Given the description of an element on the screen output the (x, y) to click on. 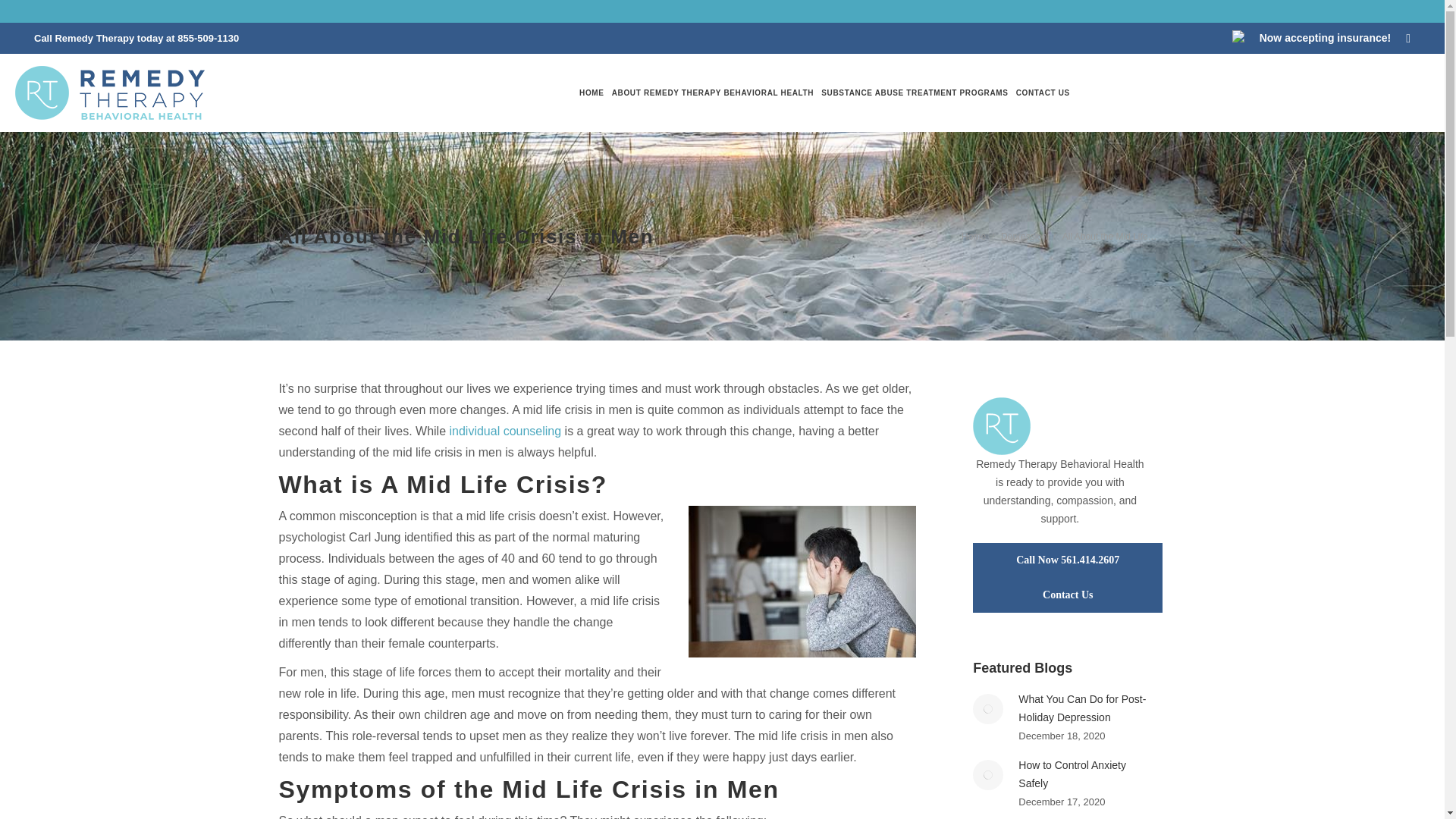
SUBSTANCE ABUSE TREATMENT PROGRAMS (914, 93)
HOME (591, 93)
Contact Us (1066, 594)
Go! (24, 15)
855-509-1130 (207, 38)
ABOUT REMEDY THERAPY BEHAVIORAL HEALTH (712, 93)
Now accepting insurance! (1324, 37)
CONTACT US (1043, 93)
